Given the description of an element on the screen output the (x, y) to click on. 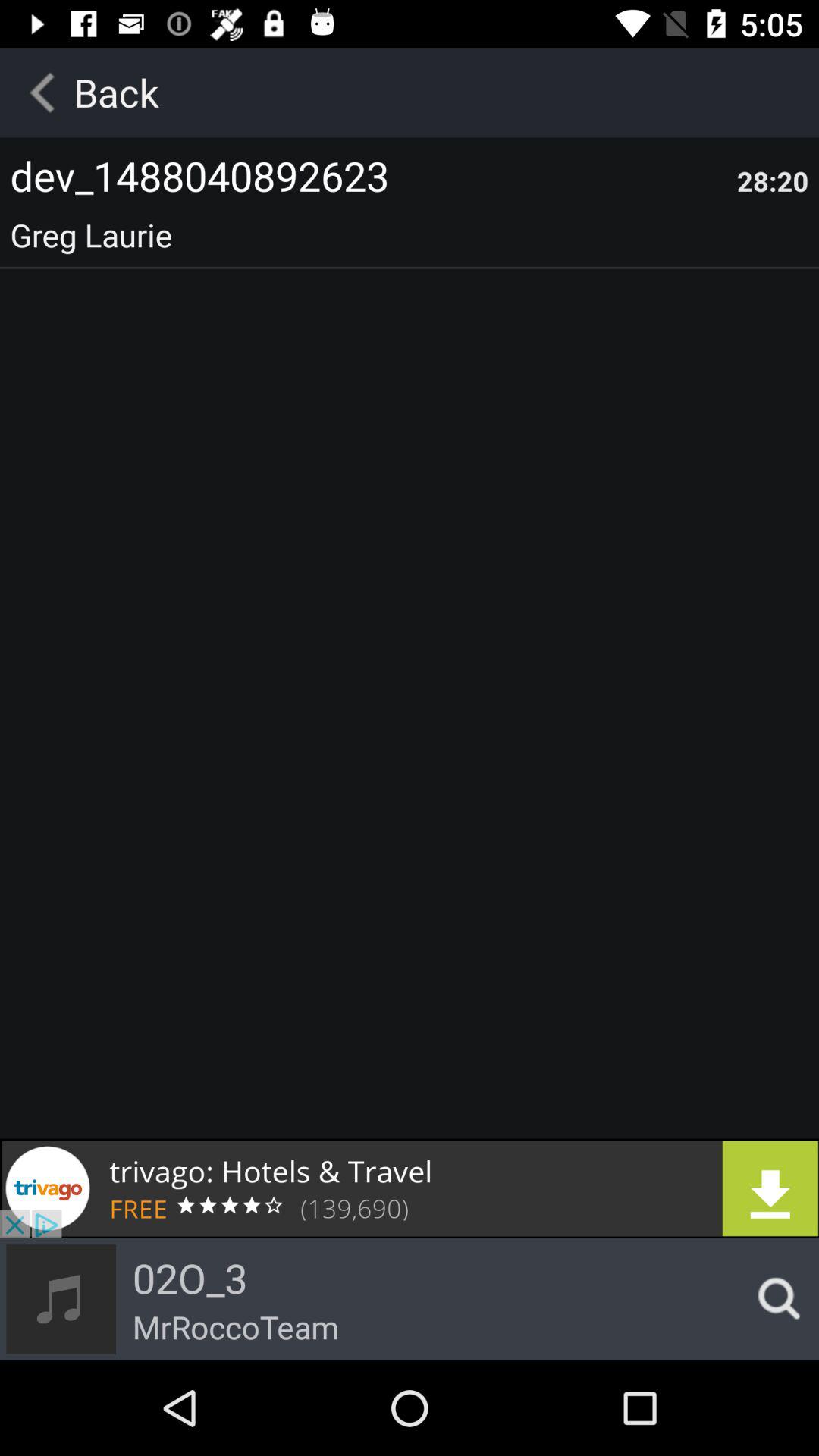
go to search (773, 1298)
